Given the description of an element on the screen output the (x, y) to click on. 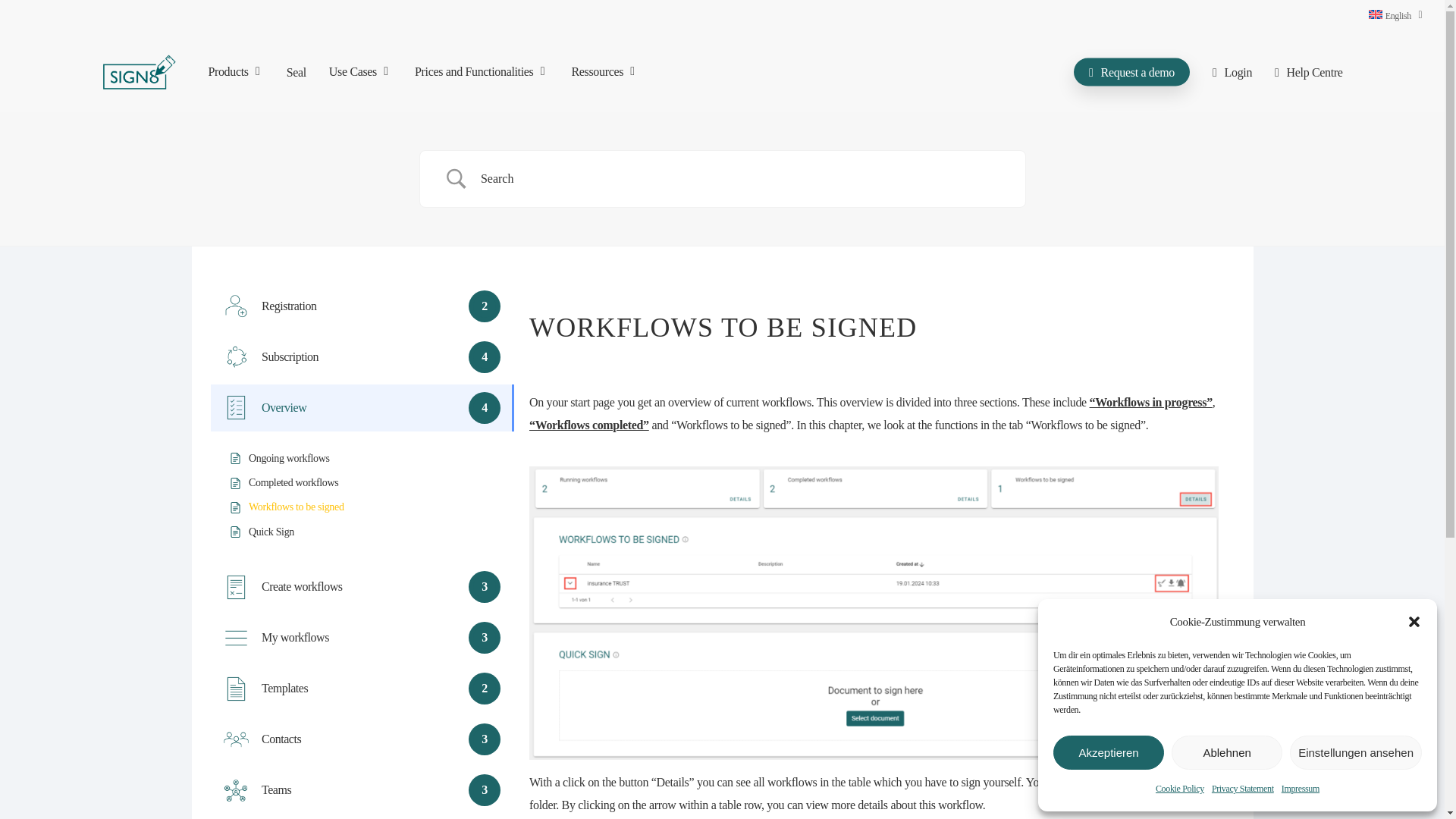
Akzeptieren (1107, 752)
Impressum (1300, 788)
English (1395, 15)
Cookie Policy (1180, 788)
Privacy Statement (1242, 788)
Seal (295, 71)
Einstellungen ansehen (1356, 752)
English (1395, 15)
Ablehnen (1227, 752)
Use Cases (360, 71)
Products (235, 71)
